Given the description of an element on the screen output the (x, y) to click on. 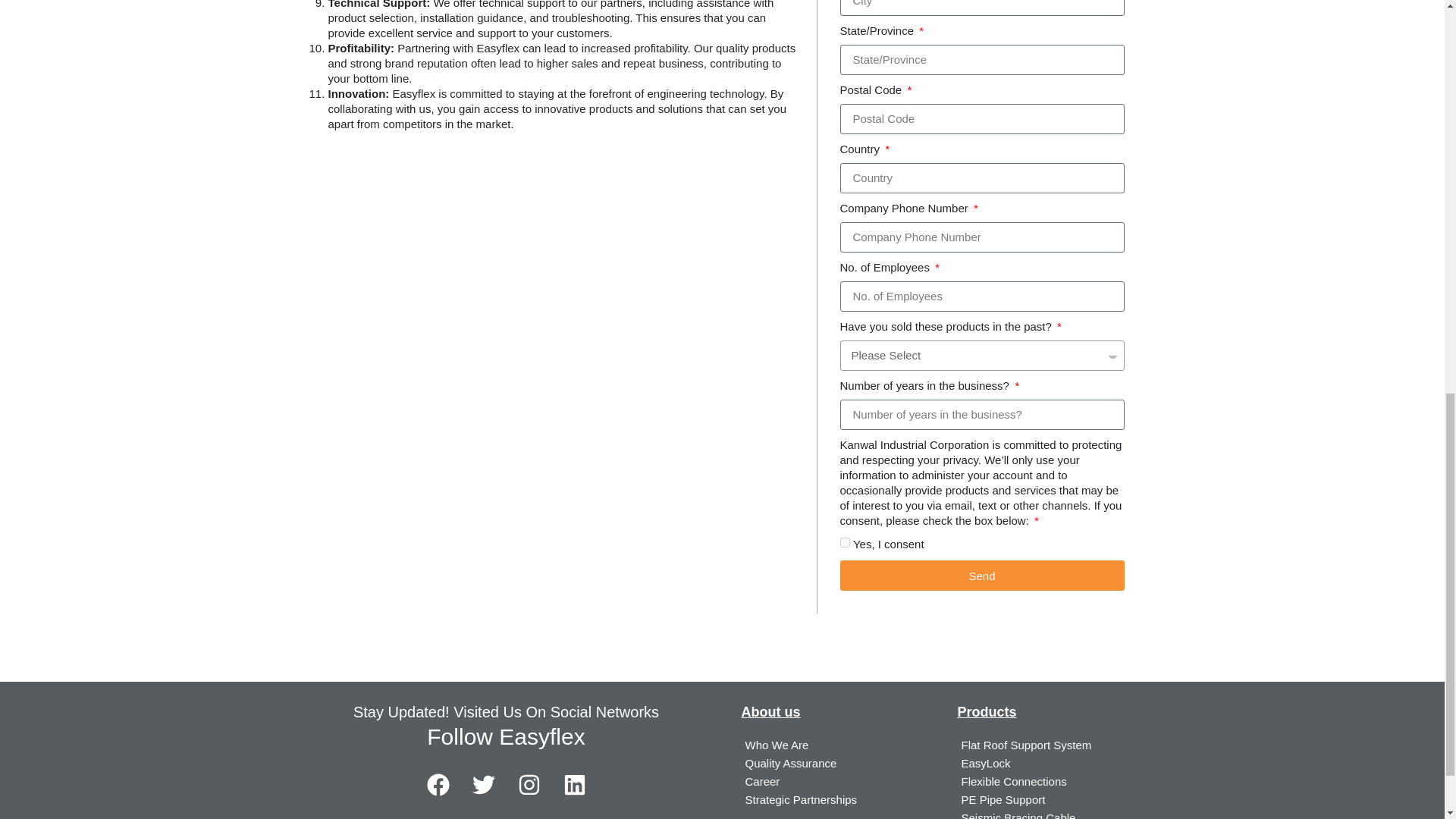
on (845, 542)
